Given the description of an element on the screen output the (x, y) to click on. 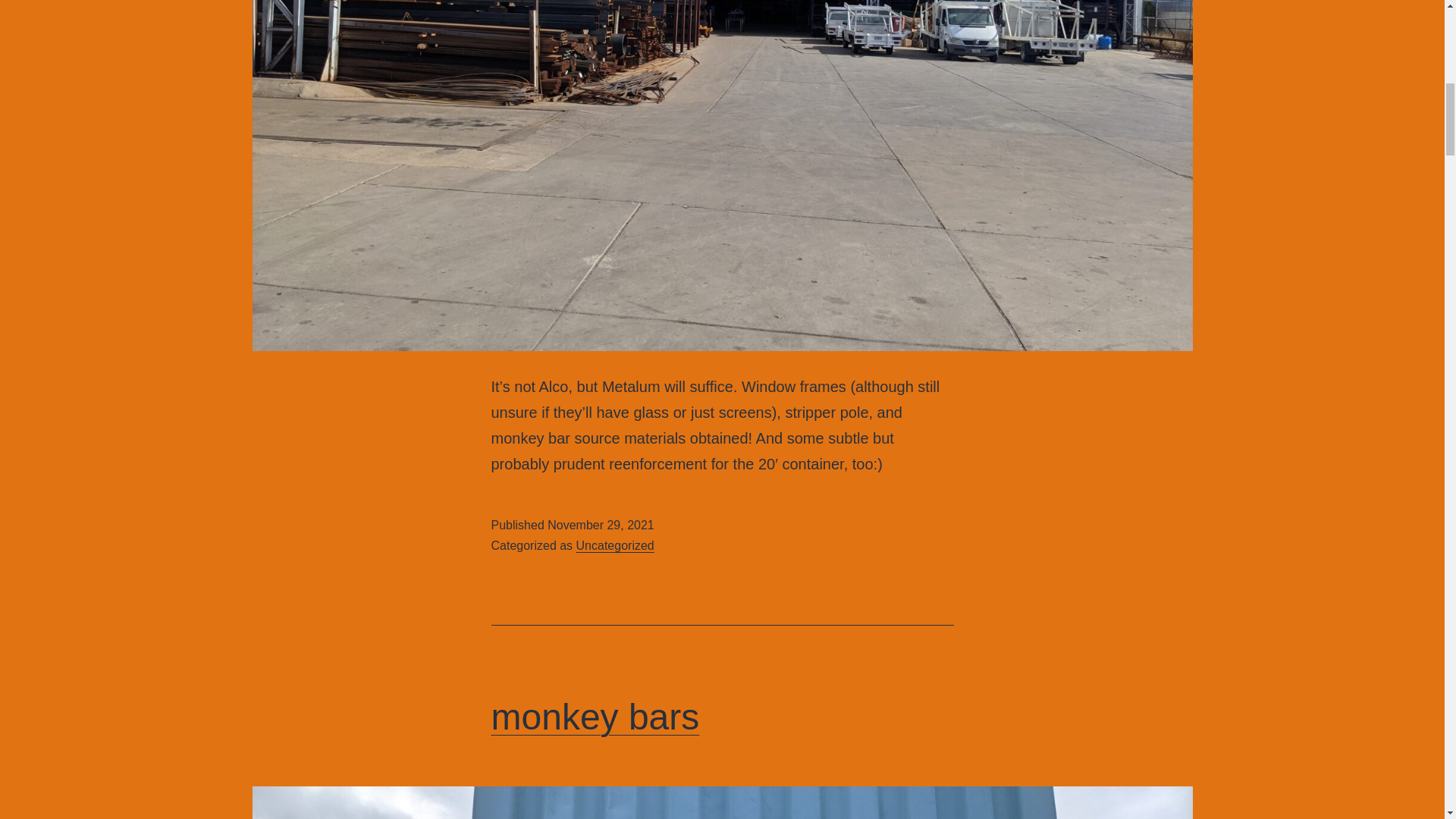
Uncategorized (614, 545)
monkey bars (596, 716)
